Given the description of an element on the screen output the (x, y) to click on. 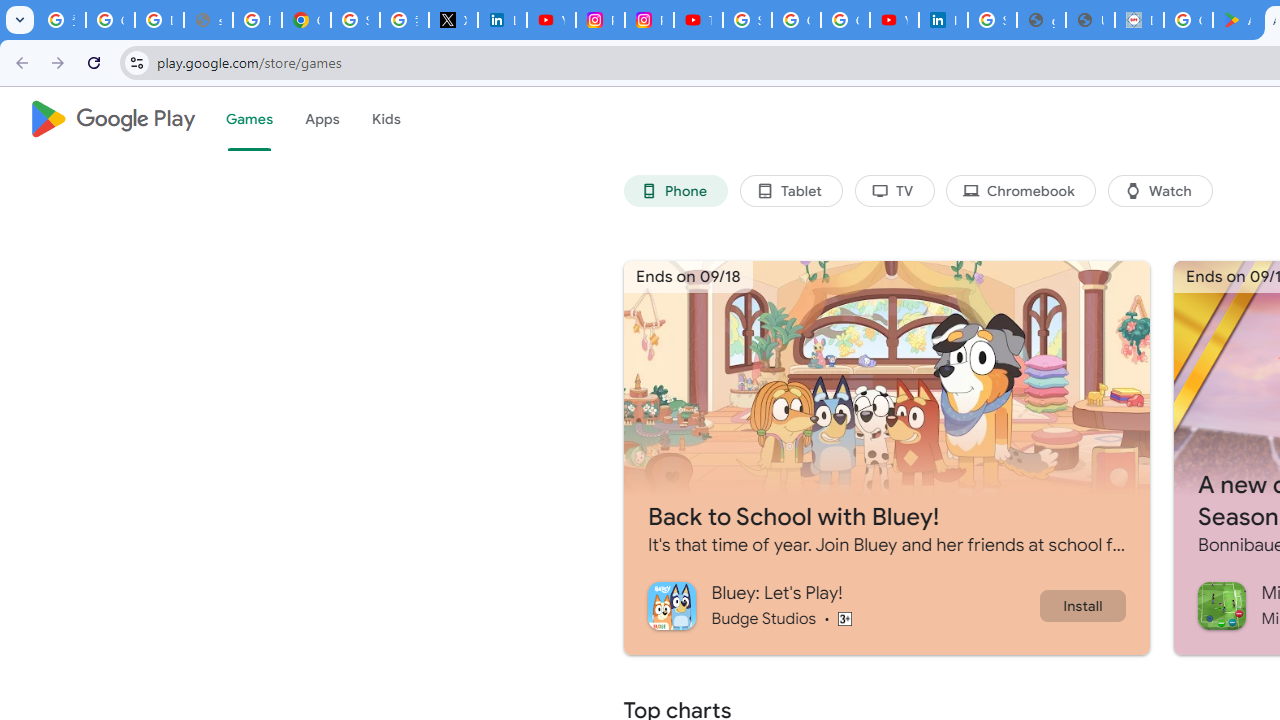
Games (248, 119)
Tablet (790, 190)
Apps (321, 119)
YouTube Content Monetization Policies - How YouTube Works (551, 20)
Sign in - Google Accounts (747, 20)
Install (1082, 605)
Bluey: Let's Play! Budge Studios Content rating Rated for 3+ (842, 605)
Google Play logo (111, 119)
